Given the description of an element on the screen output the (x, y) to click on. 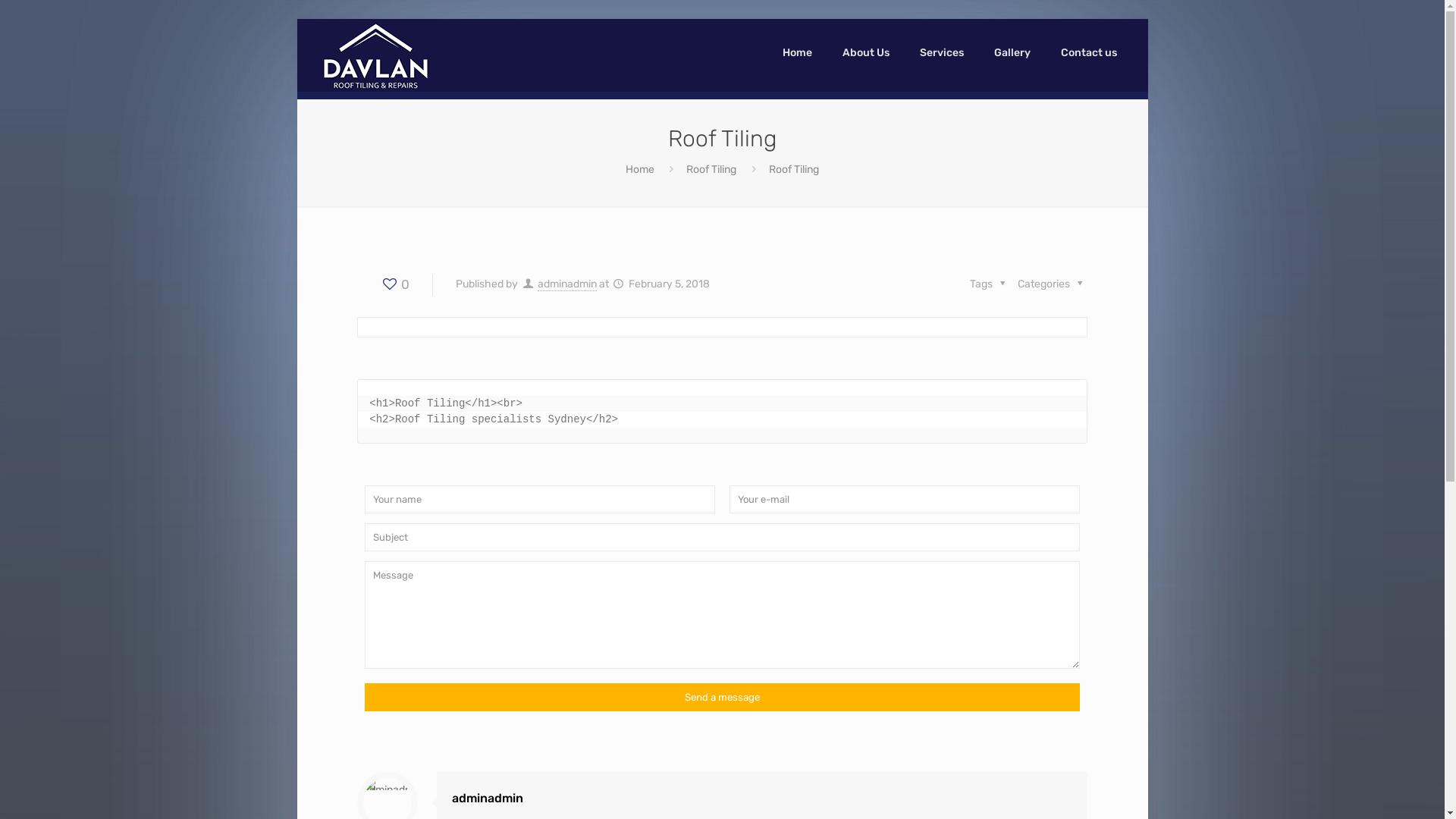
Services Element type: text (941, 52)
Home Element type: text (797, 52)
Home Element type: text (639, 169)
About Us Element type: text (865, 52)
Send a message Element type: text (721, 697)
Roof Tiling Element type: text (711, 169)
adminadmin Element type: text (487, 797)
Gallery Element type: text (1012, 52)
adminadmin Element type: text (566, 284)
0 Element type: text (394, 284)
Contact us Element type: text (1088, 52)
